Given the description of an element on the screen output the (x, y) to click on. 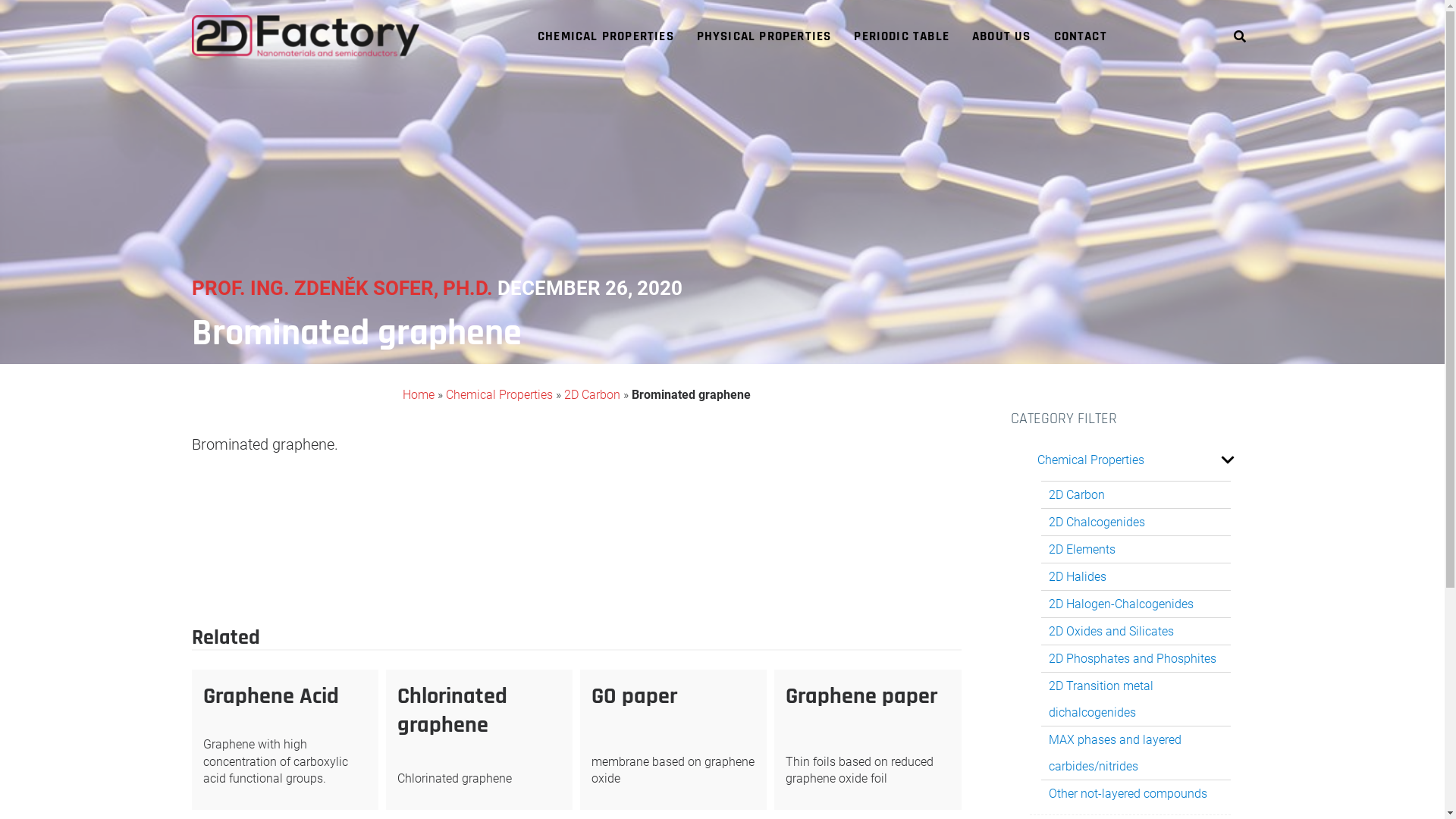
Graphene Acid Element type: text (905, 581)
Chemical Properties Element type: text (498, 394)
PHYSICAL PROPERTIES Element type: text (764, 36)
2D Carbon Element type: text (1076, 494)
CONTACT Element type: text (1080, 36)
2D Oxides and Silicates Element type: text (1110, 631)
ABOUT US Element type: text (1001, 36)
GO paper Element type: text (634, 695)
MAX phases and layered carbides/nitrides Element type: text (1137, 752)
2D Elements Element type: text (1081, 549)
Chemical Properties Element type: text (1090, 459)
2D Carbon Element type: text (592, 394)
CHEMICAL PROPERTIES Element type: text (605, 36)
2D Phosphates and Phosphites Element type: text (1131, 658)
2D Transition metal dichalcogenides Element type: text (1137, 698)
Skip to content Element type: text (0, 0)
2D Carbon Element type: text (307, 541)
Search Element type: text (1220, 92)
Chlorinated graphene Element type: text (452, 710)
2D Halogen-Chalcogenides Element type: text (1120, 603)
239 posts Element type: text (423, 515)
2D Carbon Element type: text (246, 541)
Graphene paper Element type: text (861, 695)
Other not-layered compounds Element type: text (1127, 793)
Chlorinated graphene Element type: text (265, 581)
2D Halides Element type: text (1076, 576)
PERIODIC TABLE Element type: text (901, 36)
Home Element type: text (417, 394)
2D Chalcogenides Element type: text (1096, 521)
Graphene Acid Element type: text (270, 695)
